Given the description of an element on the screen output the (x, y) to click on. 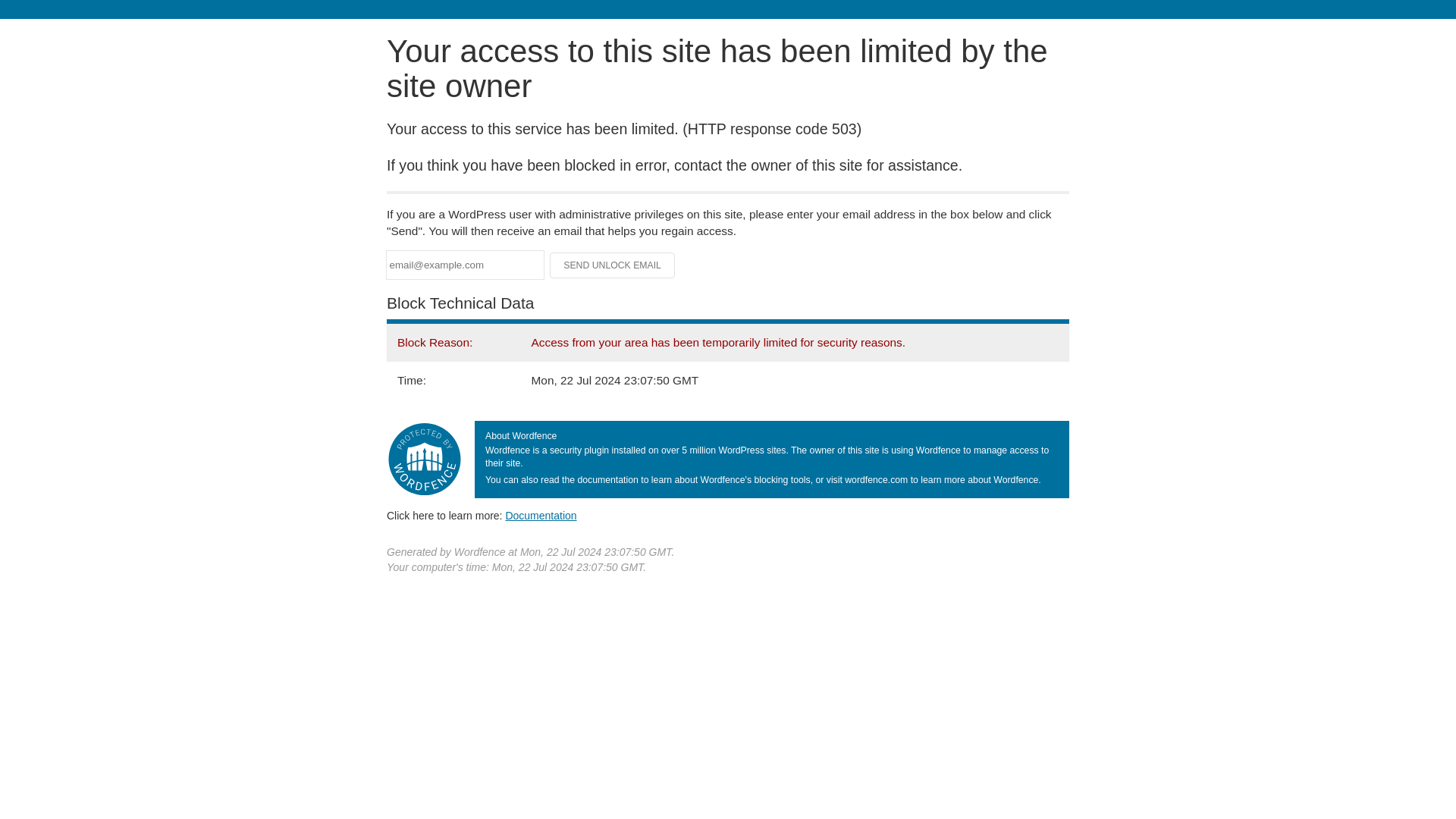
Send Unlock Email (612, 265)
Send Unlock Email (612, 265)
Documentation (540, 515)
